Given the description of an element on the screen output the (x, y) to click on. 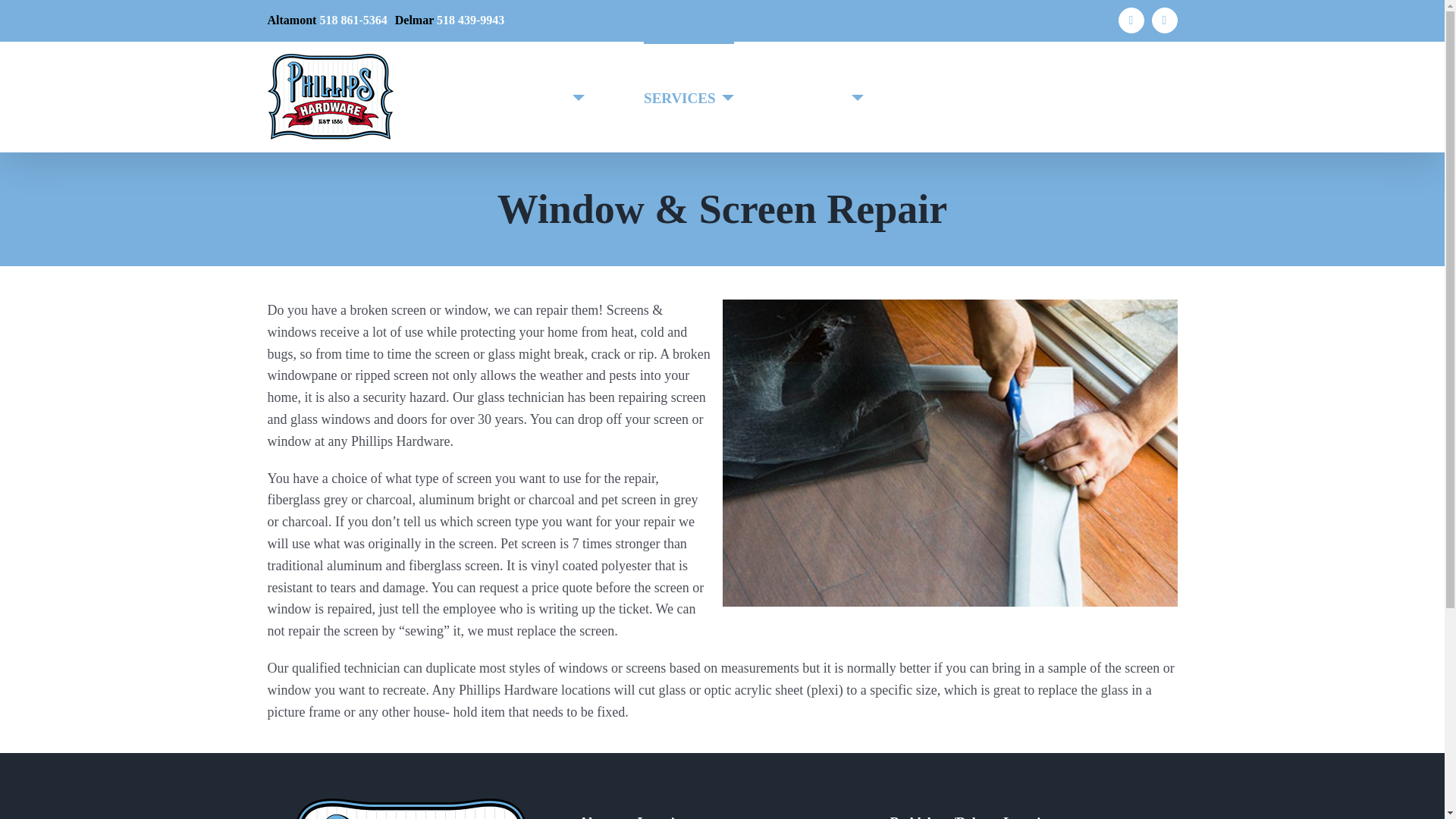
518 439-9943 (469, 19)
Instagram (1164, 20)
DEPARTMENTS (521, 96)
Facebook (1131, 20)
518 861-5364 (352, 19)
